Given the description of an element on the screen output the (x, y) to click on. 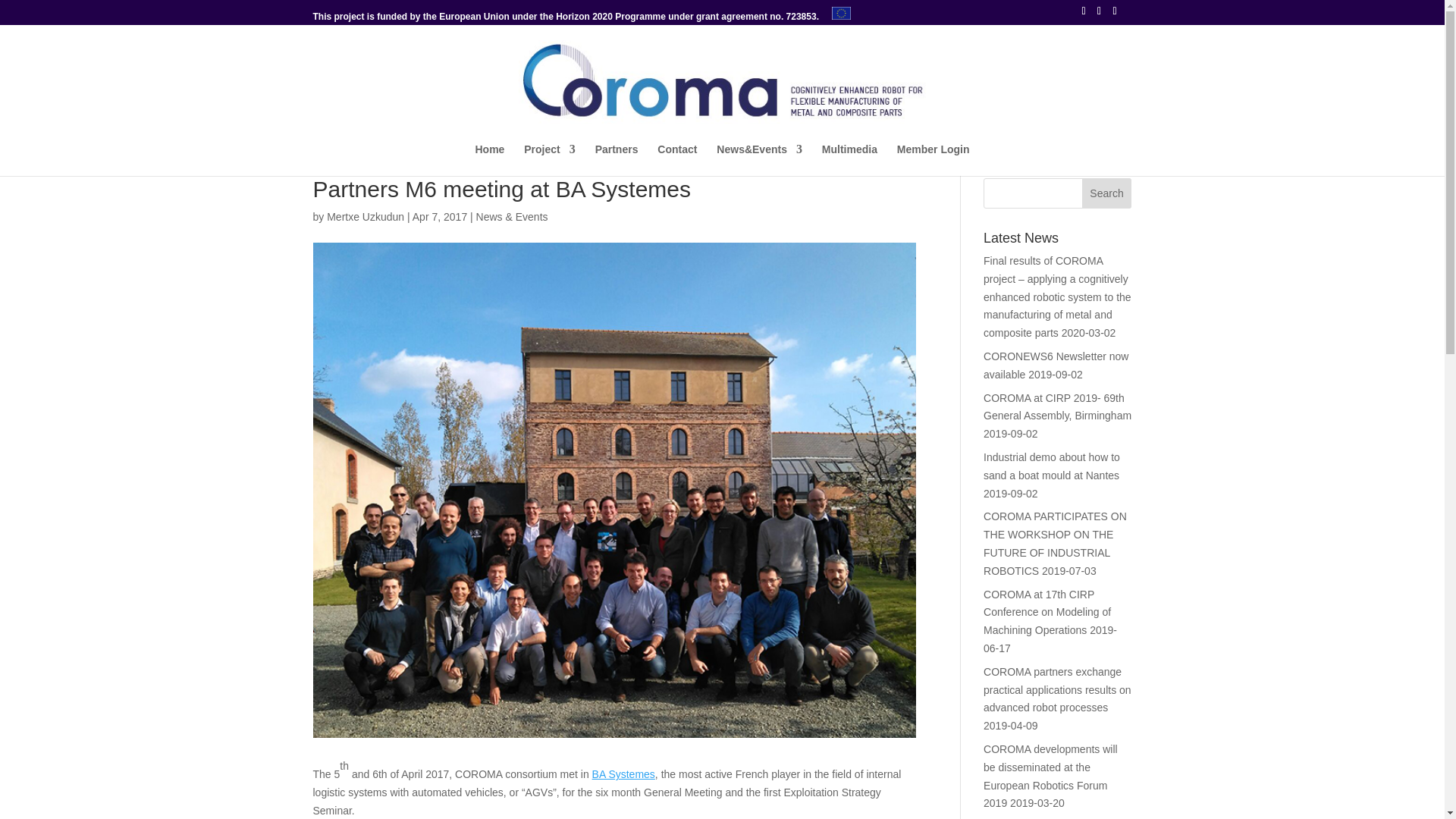
Search (1106, 193)
Partners (617, 160)
Project (549, 160)
Contact (677, 160)
Posts by Mertxe Uzkudun (365, 216)
BA Systemes (623, 774)
Mertxe Uzkudun (365, 216)
Multimedia (849, 160)
Home (488, 160)
Member Login (932, 160)
